Given the description of an element on the screen output the (x, y) to click on. 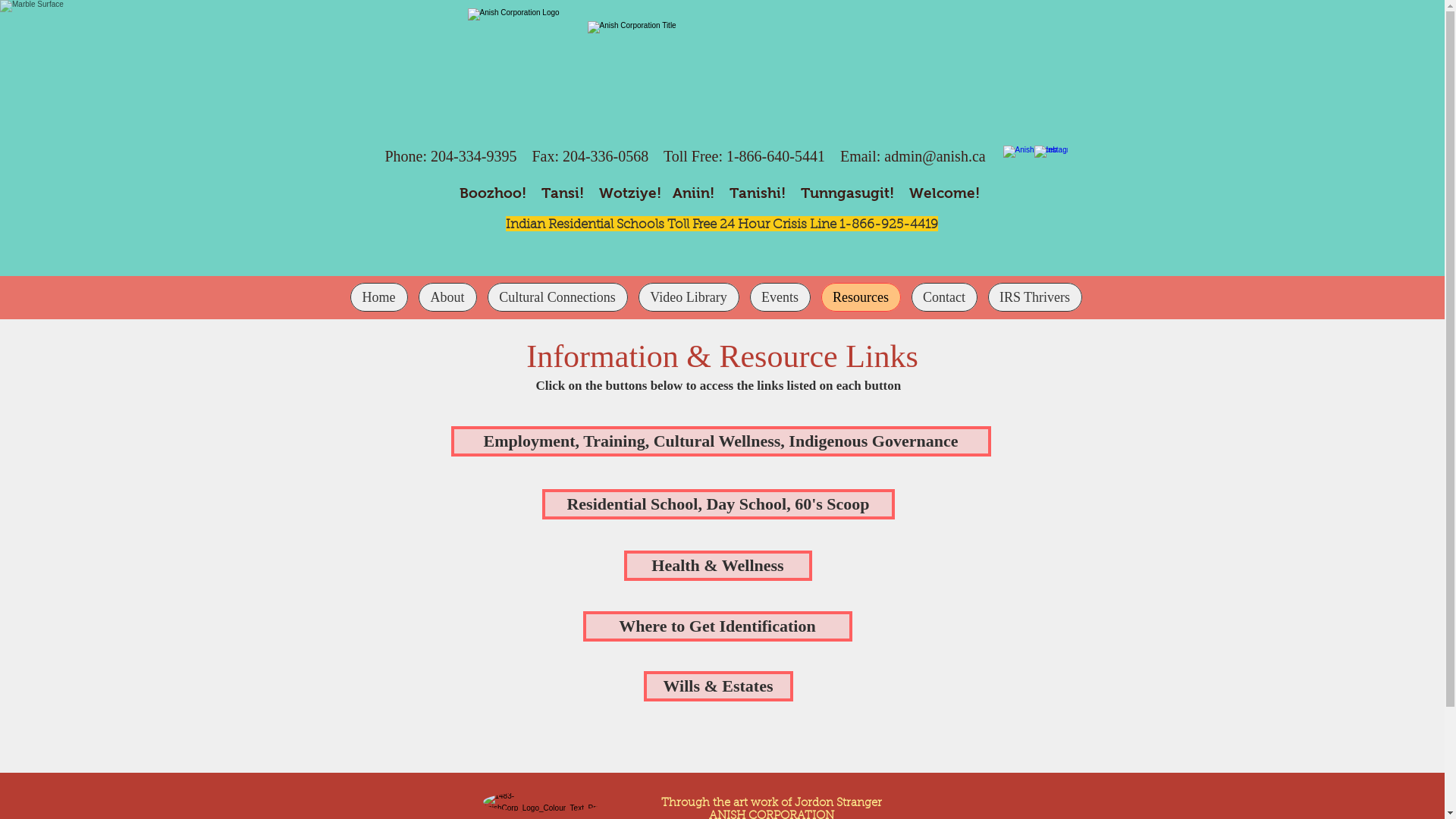
Resources Element type: text (860, 296)
Wills & Estates Element type: text (717, 686)
Video Library Element type: text (688, 296)
Residential School, Day School, 60's Scoop Element type: text (717, 504)
Contact Element type: text (944, 296)
Where to Get Identification Element type: text (716, 626)
IRS Thrivers Element type: text (1034, 296)
About Element type: text (447, 296)
admin@anish.ca Element type: text (934, 155)
Health & Wellness Element type: text (717, 565)
Home Element type: text (378, 296)
Cultural Connections Element type: text (556, 296)
Events Element type: text (779, 296)
